Given the description of an element on the screen output the (x, y) to click on. 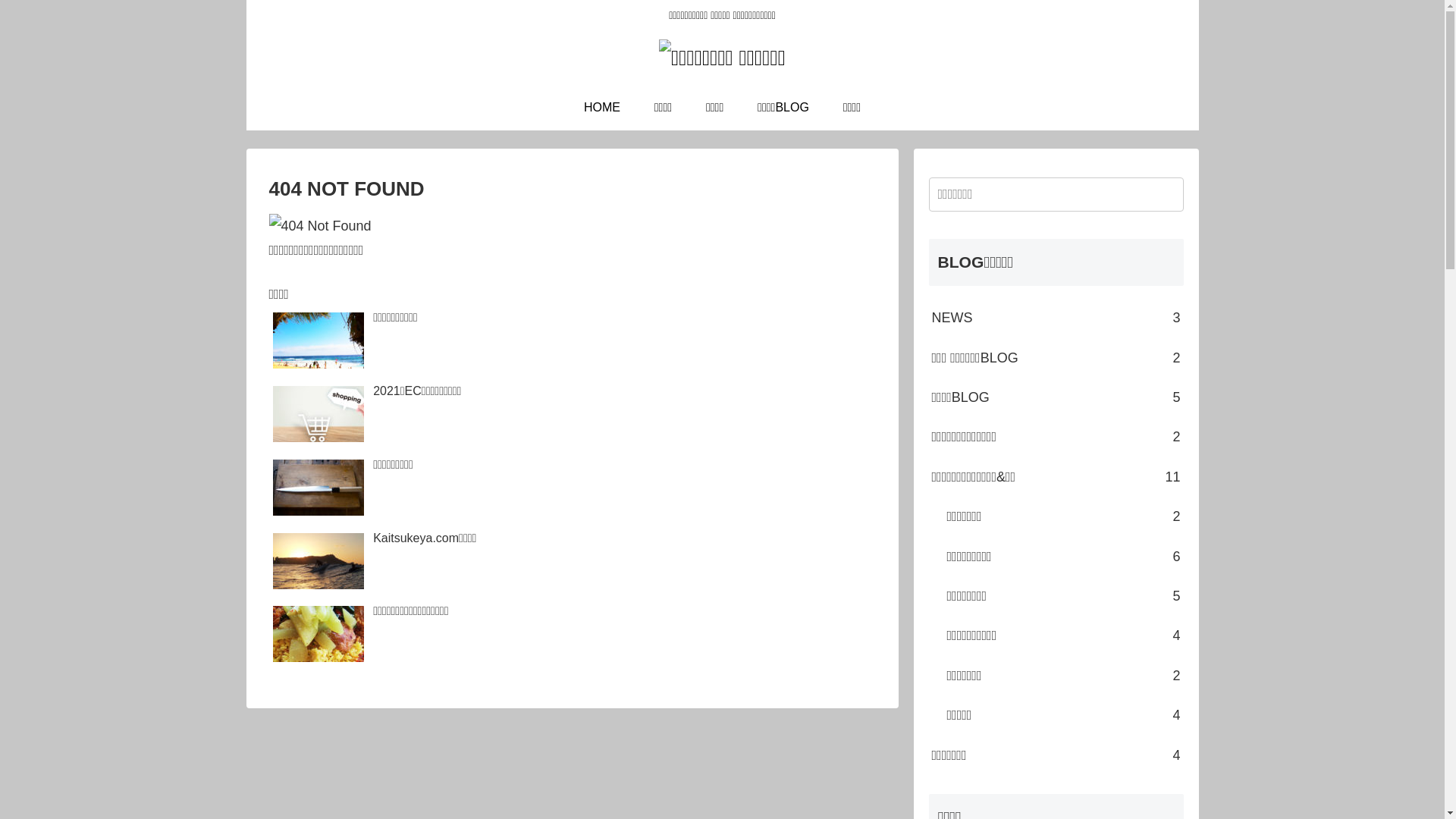
HOME Element type: text (602, 107)
NEWS
3 Element type: text (1055, 317)
